Given the description of an element on the screen output the (x, y) to click on. 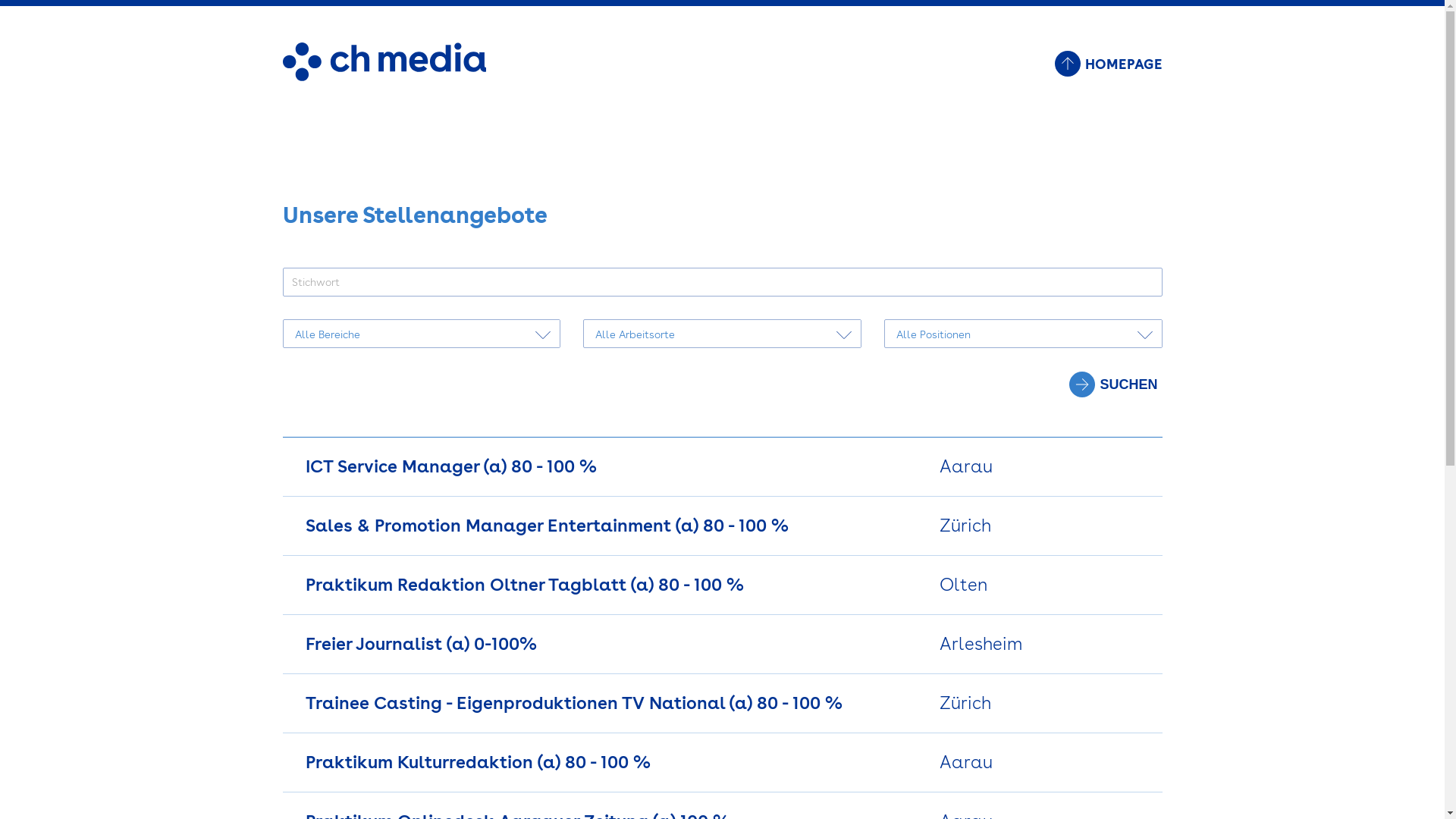
Praktikum Redaktion Oltner Tagblatt (a) 80 - 100 %
Olten Element type: text (721, 585)
Alle Bereiche Element type: text (421, 333)
HOMEPAGE Element type: text (1107, 63)
Freier Journalist (a) 0-100%
Arlesheim Element type: text (721, 644)
ICT Service Manager (a) 80 - 100 %
Aarau Element type: text (721, 466)
CH Media Element type: hover (383, 76)
Alle Arbeitsorte Element type: text (722, 333)
SUCHEN Element type: text (1115, 384)
Praktikum Kulturredaktion (a) 80 - 100 %
Aarau Element type: text (721, 762)
Alle Positionen Element type: text (1023, 333)
